Given the description of an element on the screen output the (x, y) to click on. 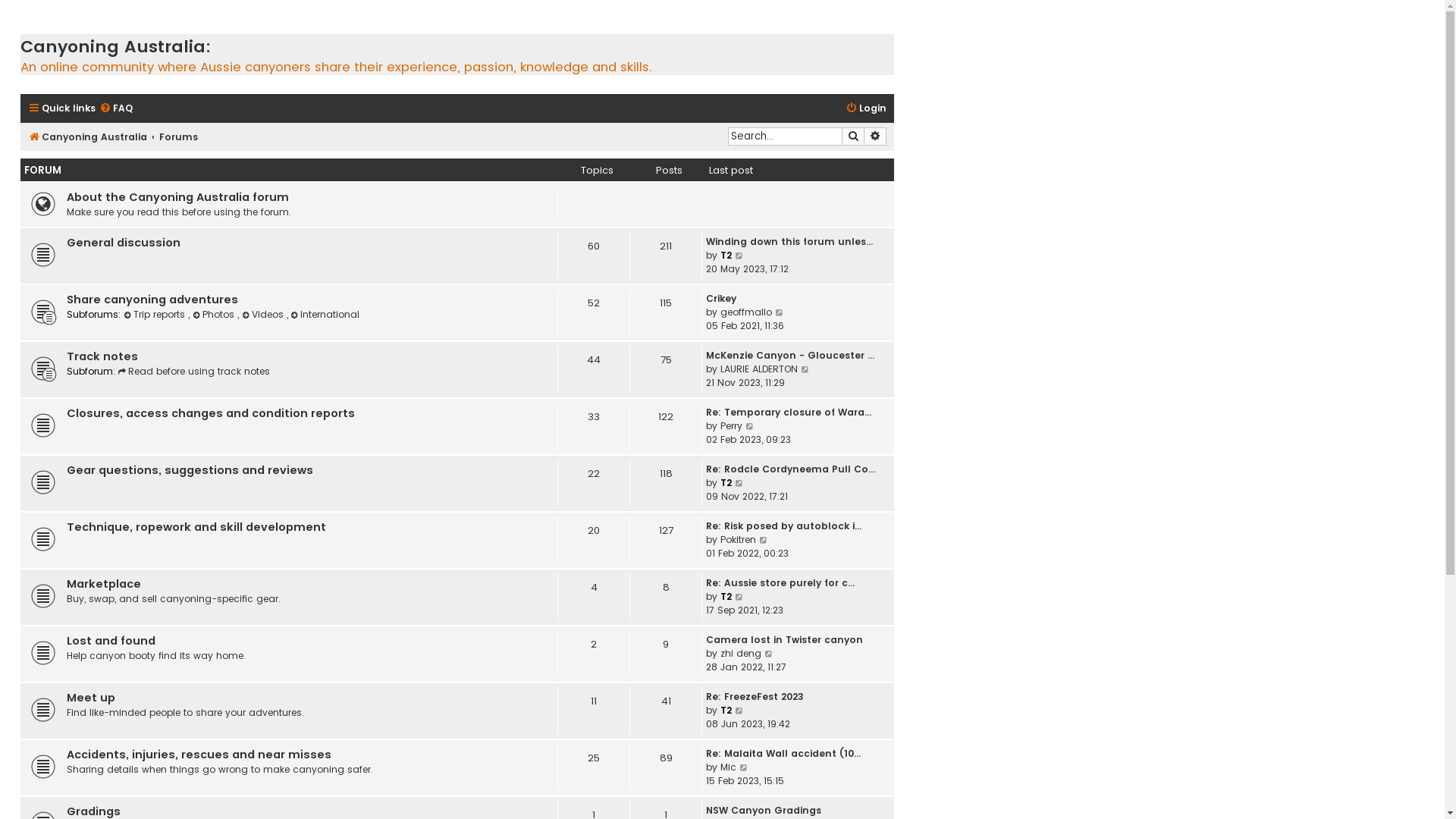
View the latest post Element type: text (739, 255)
Accidents, injuries, rescues and near misses Element type: text (198, 755)
View the latest post Element type: text (769, 653)
View the latest post Element type: text (739, 710)
Re: FreezeFest 2023 Element type: text (754, 696)
Trip reports Element type: text (155, 313)
View the latest post Element type: text (744, 767)
FAQ Element type: text (115, 108)
Lost and found Element type: text (110, 642)
Search for keywords Element type: hover (784, 136)
About the Canyoning Australia forum Element type: text (177, 198)
Closures, access changes and condition reports Element type: text (210, 414)
zhi deng Element type: text (740, 653)
Marketplace Element type: text (103, 585)
T2 Element type: text (725, 254)
T2 Element type: text (725, 482)
Meet up Element type: text (90, 699)
Pokitren Element type: text (738, 539)
Mic Element type: text (728, 767)
General discussion Element type: text (123, 244)
Share canyoning adventures Element type: text (152, 300)
LAURIE ALDERTON Element type: text (758, 369)
Login Element type: text (865, 108)
Photos Element type: text (214, 313)
View the latest post Element type: text (739, 482)
Gear questions, suggestions and reviews Element type: text (189, 471)
Read before using track notes Element type: text (193, 370)
T2 Element type: text (725, 595)
View the latest post Element type: text (805, 369)
View the latest post Element type: text (779, 312)
View the latest post Element type: text (750, 426)
View the latest post Element type: text (763, 539)
NSW Canyon Gradings Element type: text (763, 810)
Quick links Element type: text (61, 108)
Videos Element type: text (263, 313)
Technique, ropework and skill development Element type: text (196, 528)
geoffmallo Element type: text (745, 312)
Canyoning Australia Element type: text (87, 137)
View the latest post Element type: text (739, 596)
T2 Element type: text (725, 709)
International Element type: text (325, 313)
Perry Element type: text (731, 426)
Track notes Element type: text (102, 357)
Crikey Element type: text (721, 298)
Camera lost in Twister canyon Element type: text (784, 639)
Forums Element type: text (178, 137)
Search Element type: text (852, 136)
Advanced search Element type: text (875, 136)
